Given the description of an element on the screen output the (x, y) to click on. 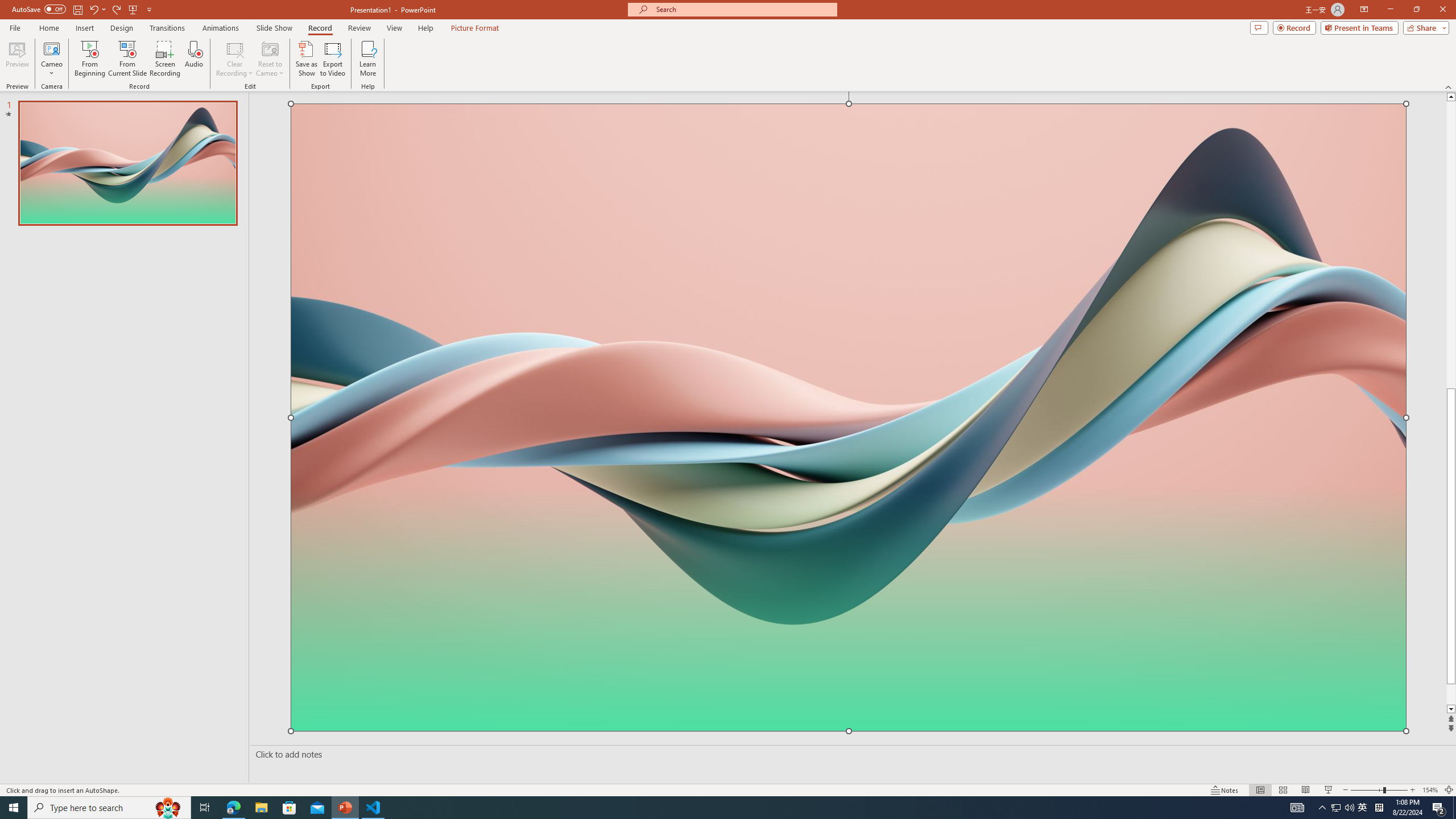
Learn More (368, 58)
